Given the description of an element on the screen output the (x, y) to click on. 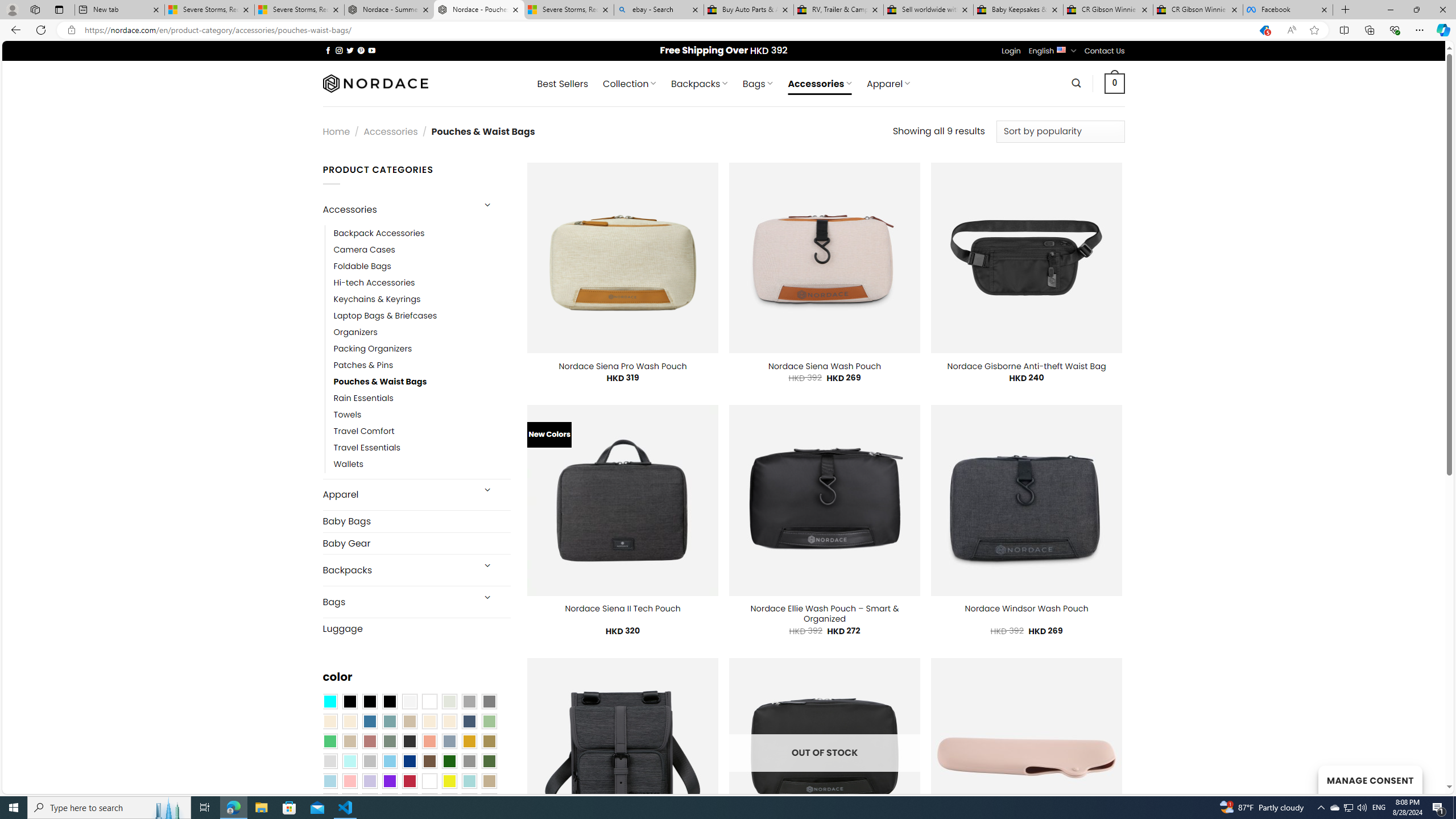
Backpack Accessories (379, 232)
Shop order (1060, 131)
Nordace Gisborne Anti-theft Waist Bag (1026, 365)
Accessories (397, 209)
Organizers (355, 332)
Towels (422, 415)
Baby Keepsakes & Announcements for sale | eBay (1018, 9)
Patches & Pins (363, 365)
Nordace Siena II Tech Pouch (622, 608)
Nordace Siena Pro Wash Pouch (623, 365)
Login (1010, 50)
